Given the description of an element on the screen output the (x, y) to click on. 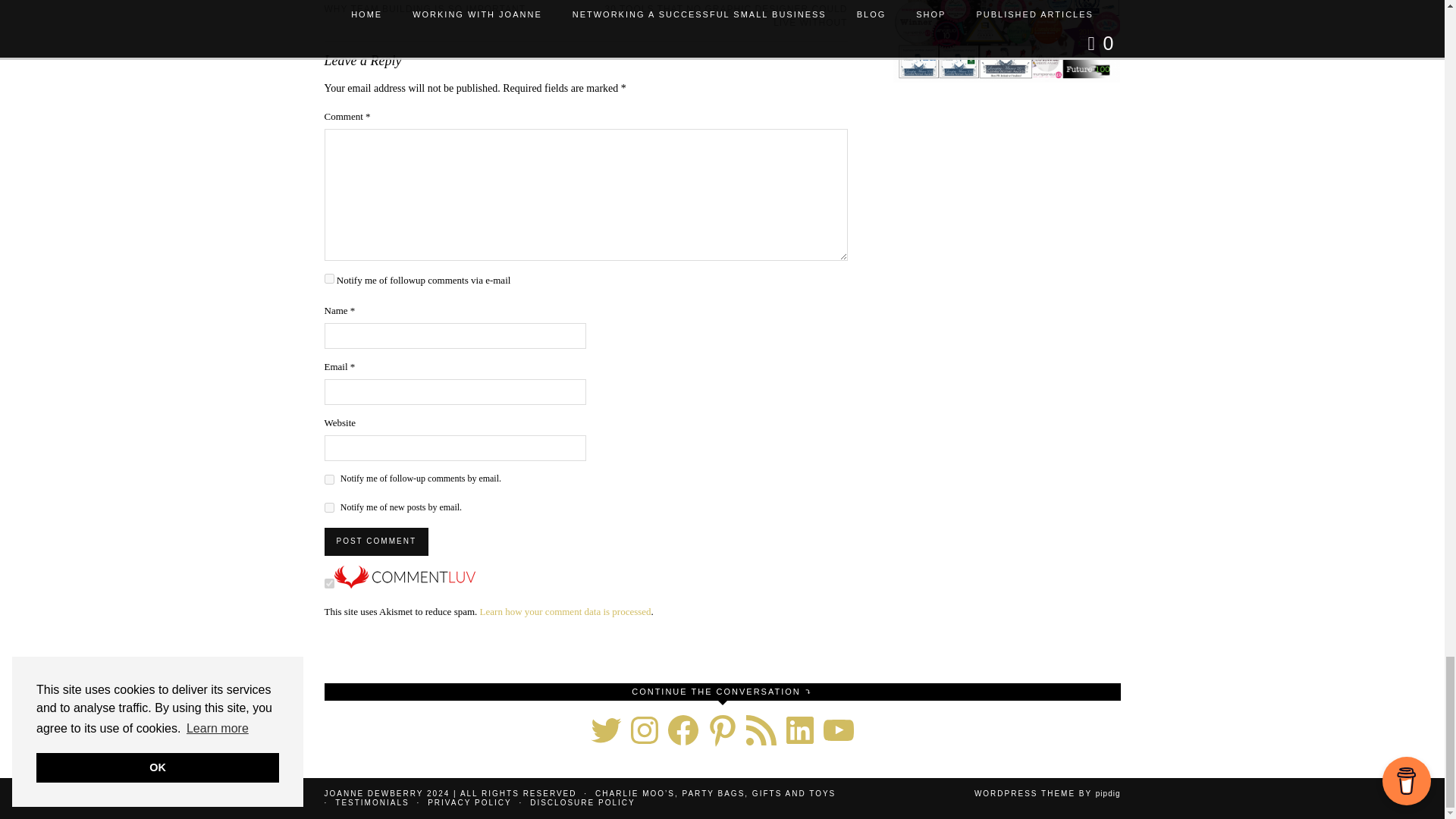
Post Comment (376, 541)
subscribe (329, 479)
on (329, 583)
subscribe (329, 507)
subscribe (329, 278)
